Given the description of an element on the screen output the (x, y) to click on. 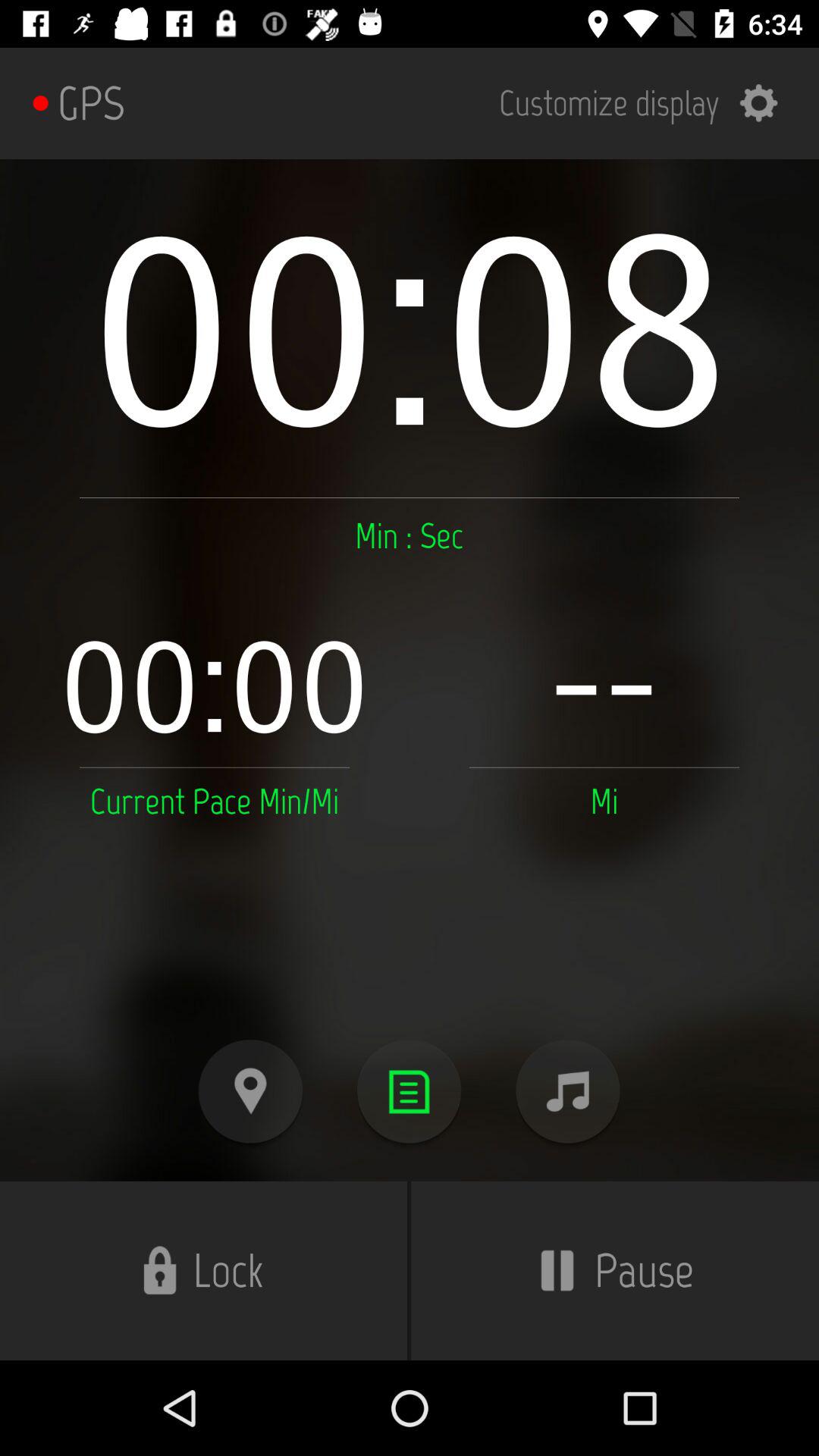
music (567, 1091)
